Given the description of an element on the screen output the (x, y) to click on. 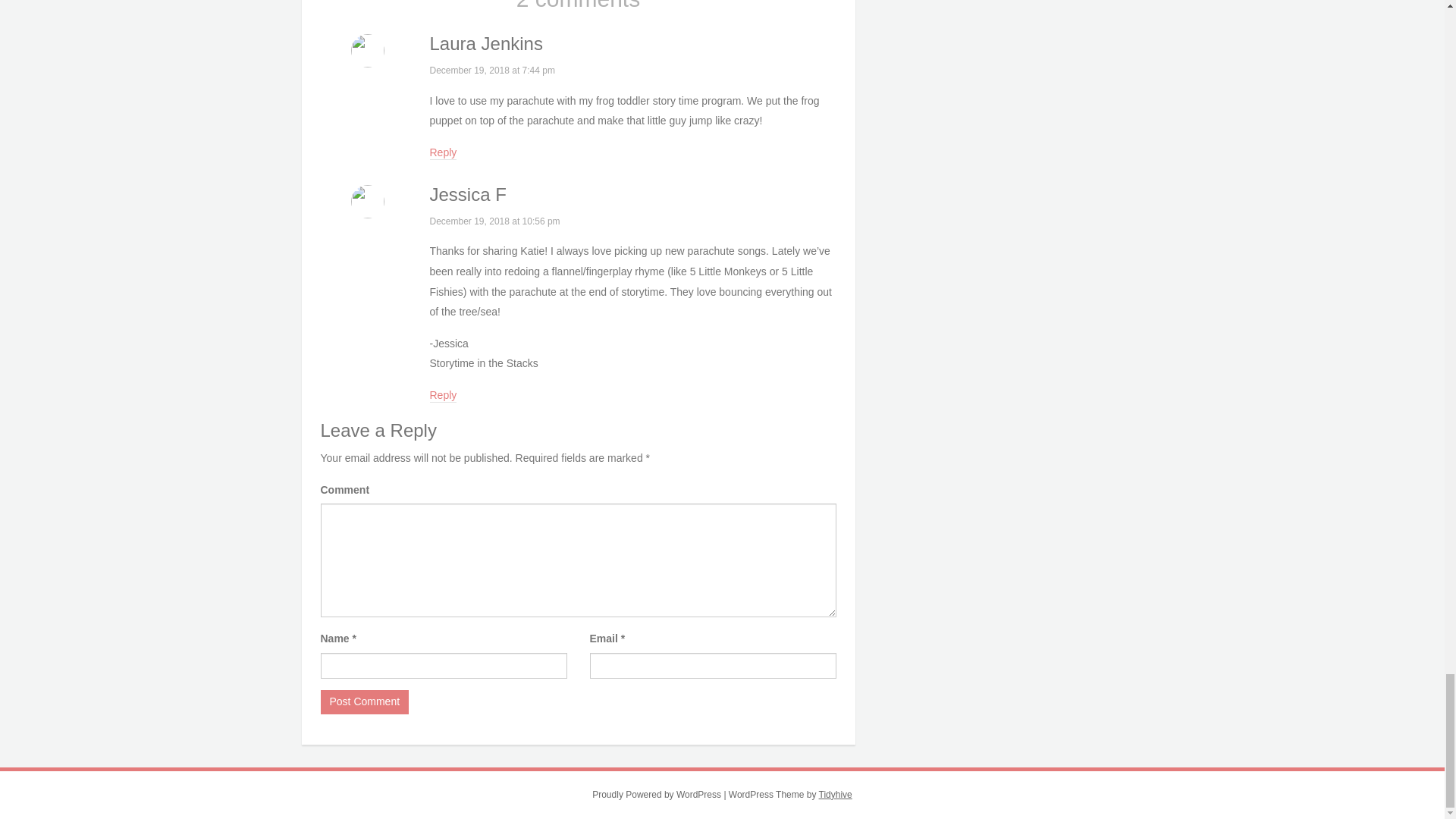
Post Comment (364, 702)
December 19, 2018 at 7:44 pm (491, 70)
Reply (443, 152)
